Given the description of an element on the screen output the (x, y) to click on. 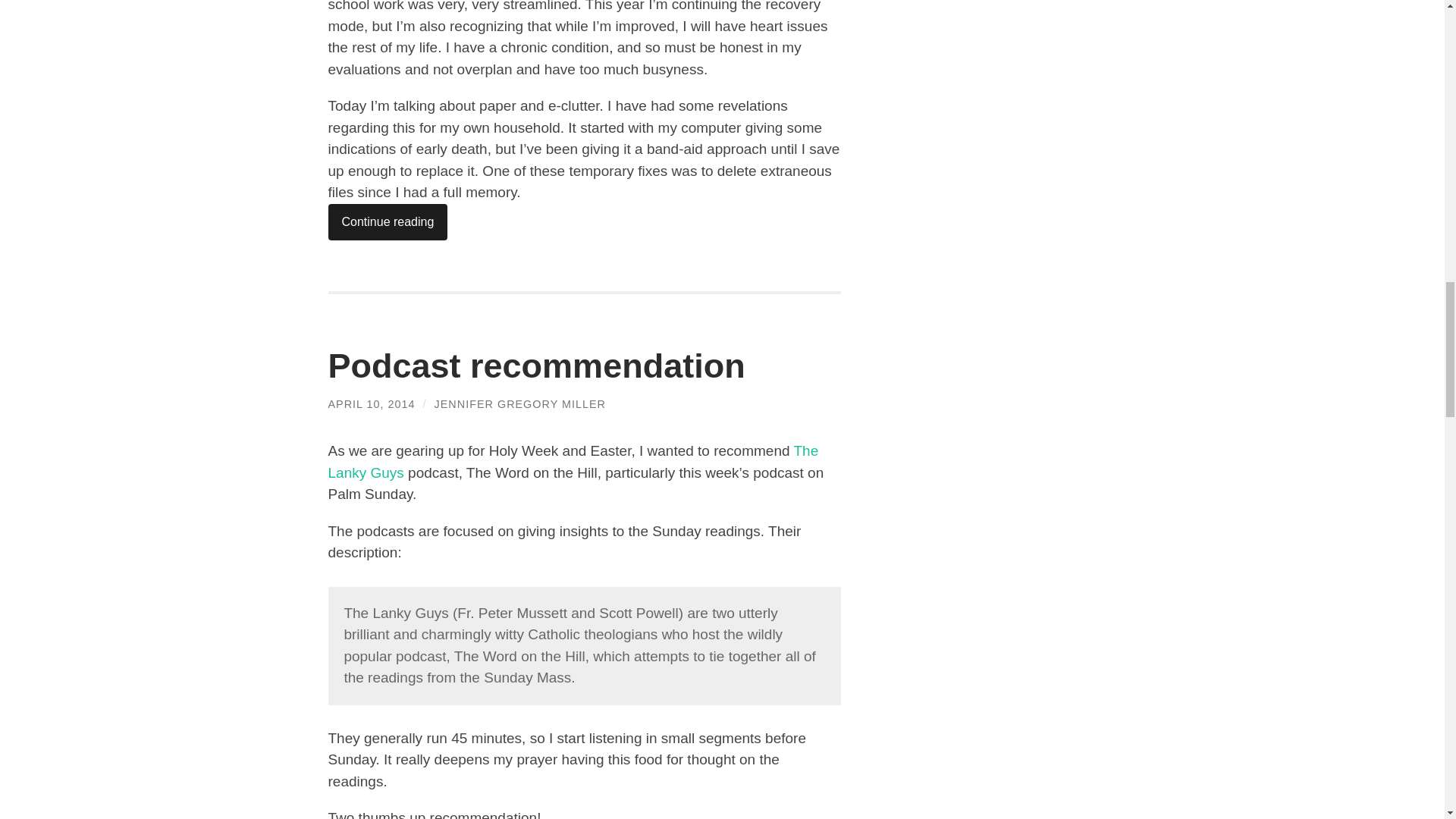
Posts by Jennifer Gregory Miller (519, 404)
